Given the description of an element on the screen output the (x, y) to click on. 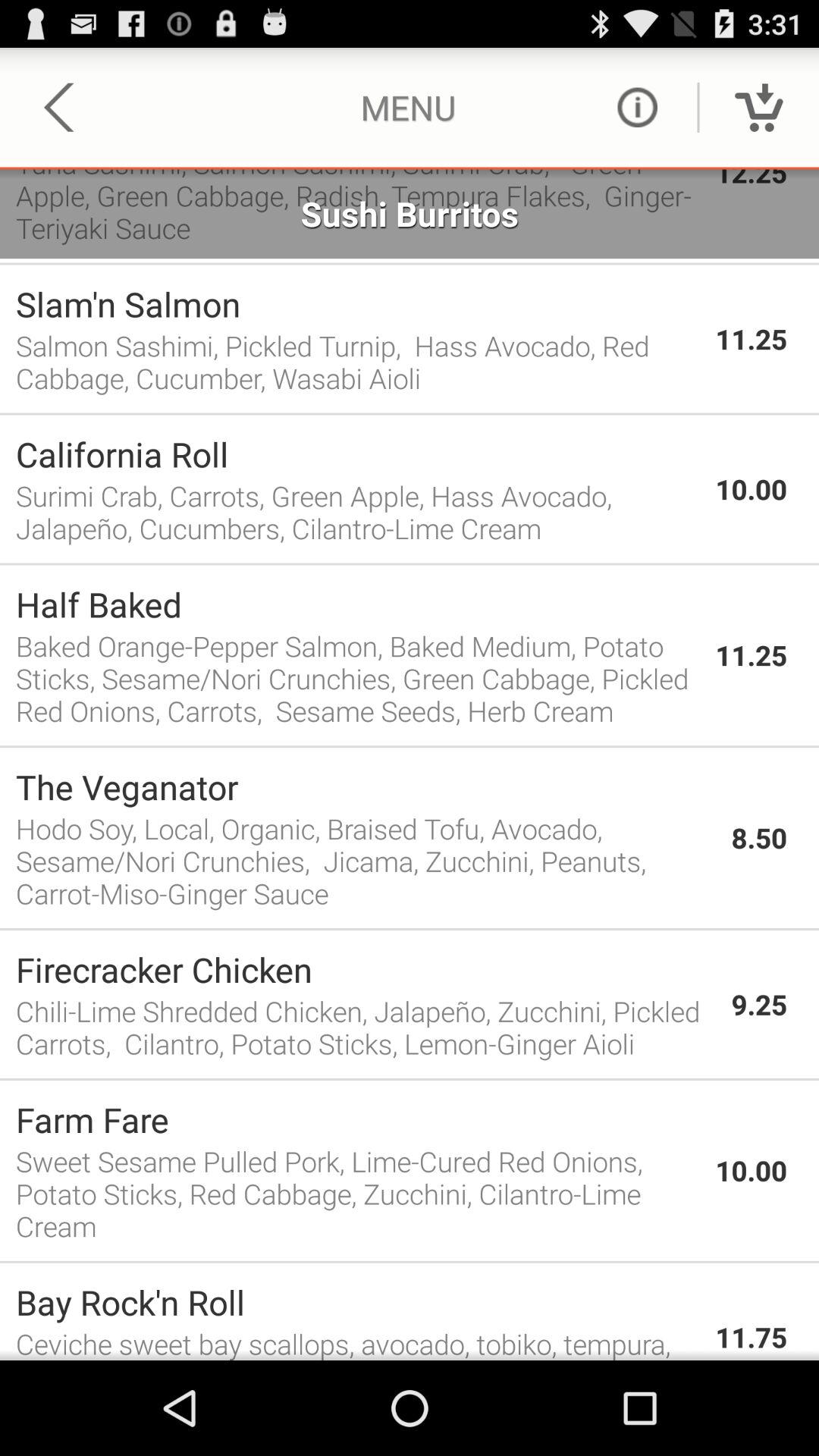
click the 8.50 app (759, 837)
